Given the description of an element on the screen output the (x, y) to click on. 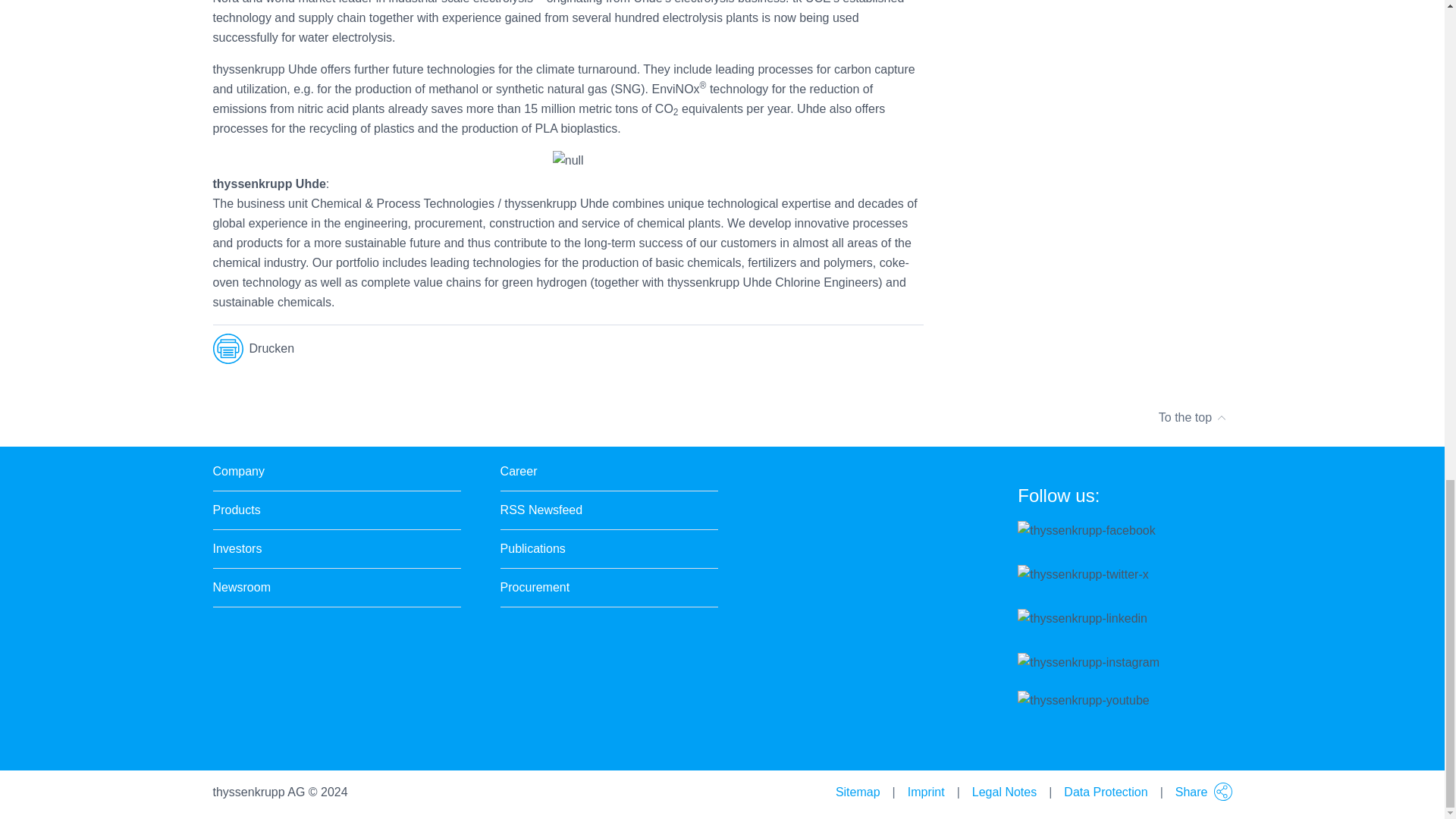
Career (518, 471)
X (787, 349)
thyssenkrupp-instagram (1087, 662)
thyssenkrupp-twitter-x (1082, 574)
Publications (533, 548)
LinkedIn (867, 349)
thyssenkrupp-linkedin (1082, 618)
Newsroom (240, 587)
To the top arrow-up (1192, 417)
RSS Newsfeed (541, 510)
